Given the description of an element on the screen output the (x, y) to click on. 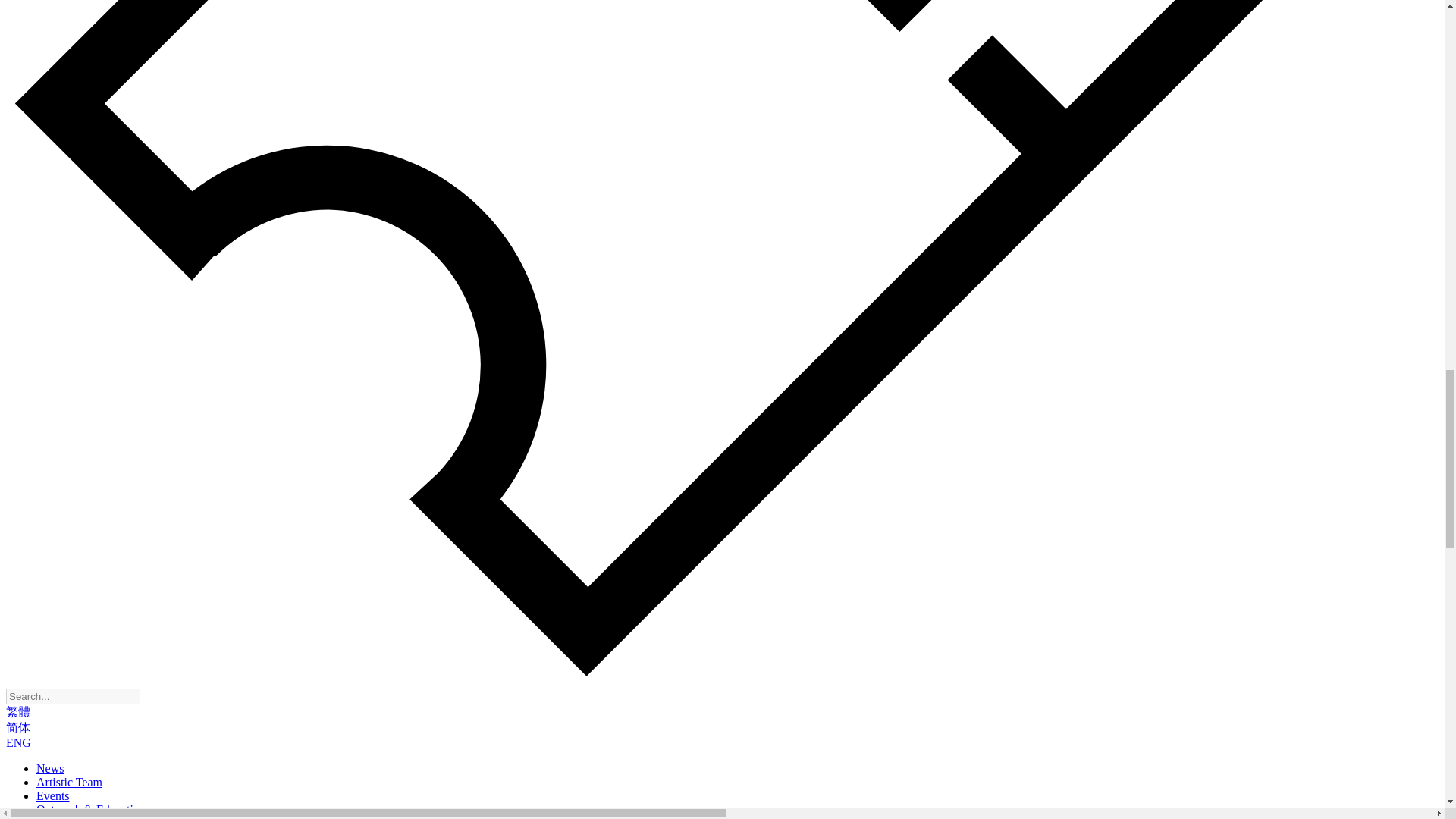
Events (52, 795)
News (50, 768)
Media (51, 817)
ENG (17, 742)
Artistic Team (68, 781)
